Given the description of an element on the screen output the (x, y) to click on. 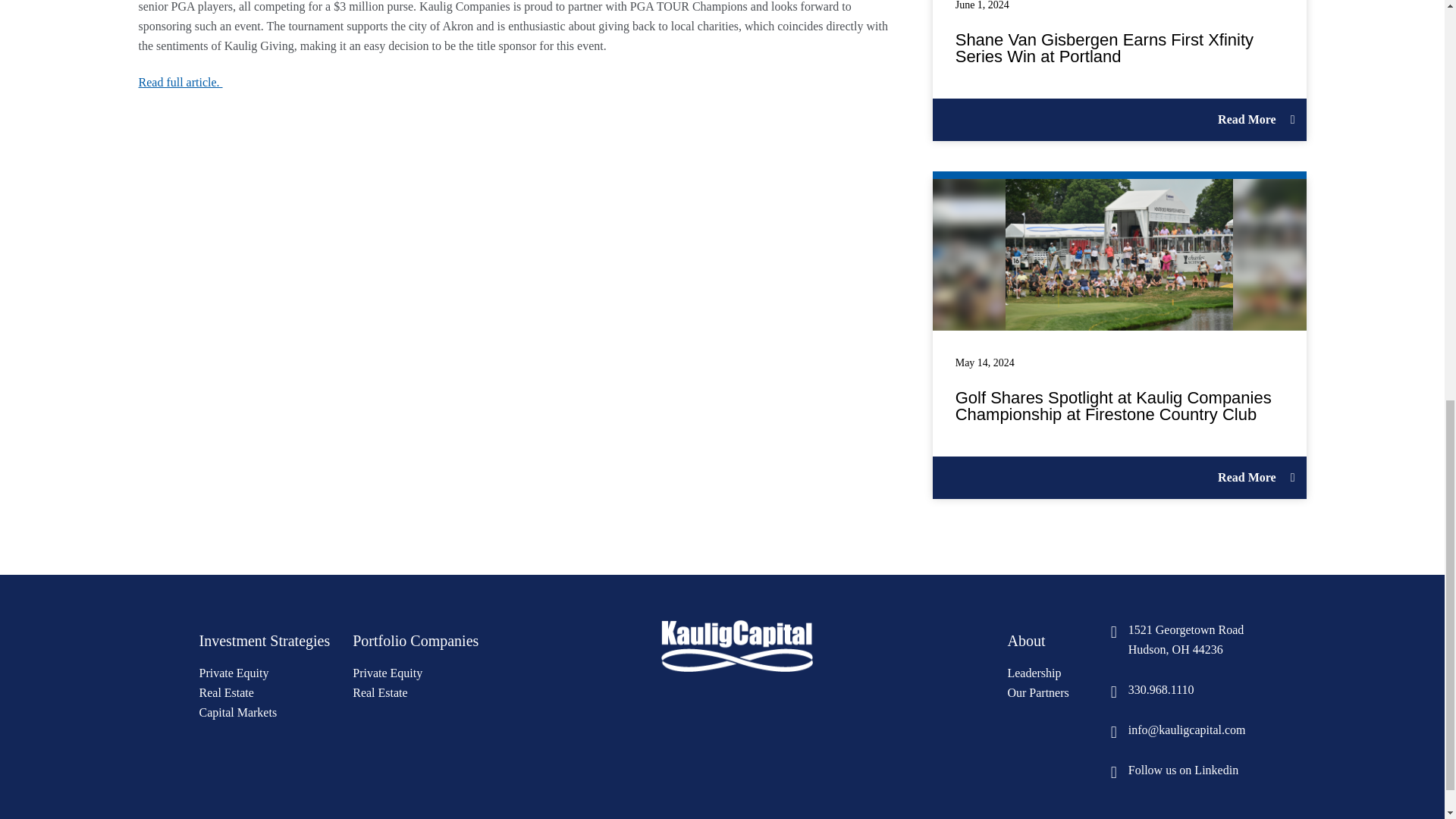
Private Equity (232, 673)
330.968.1110 (1178, 639)
Real Estate (1178, 690)
Portfolio Companies (225, 693)
Our Partners (415, 641)
Read full article.  (1037, 693)
Capital Markets (180, 82)
Real Estate (237, 712)
About (379, 693)
Leadership (1026, 641)
Private Equity (1034, 673)
Investment Strategies (387, 673)
